Given the description of an element on the screen output the (x, y) to click on. 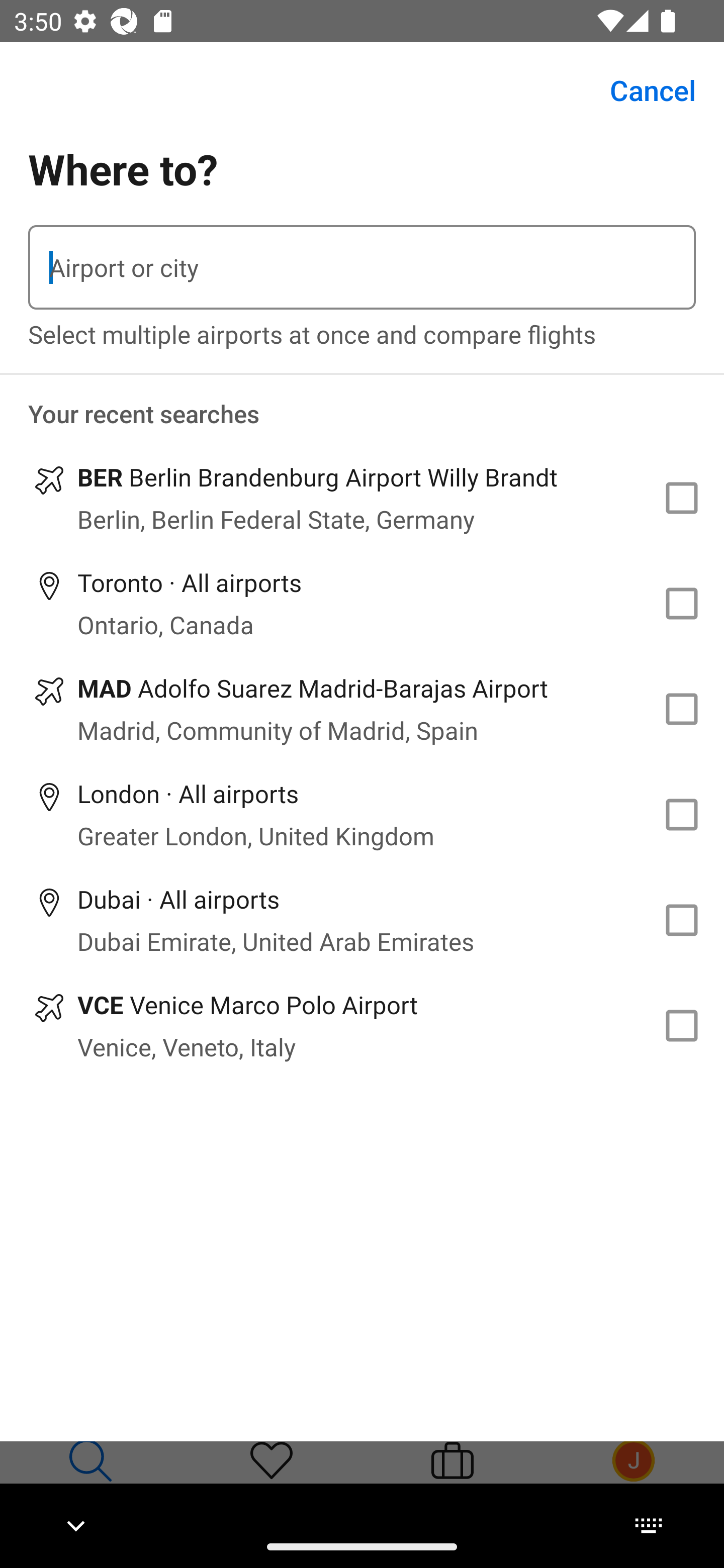
Cancel (641, 90)
Airport or city (361, 266)
Toronto · All airports Ontario, Canada (362, 603)
